Given the description of an element on the screen output the (x, y) to click on. 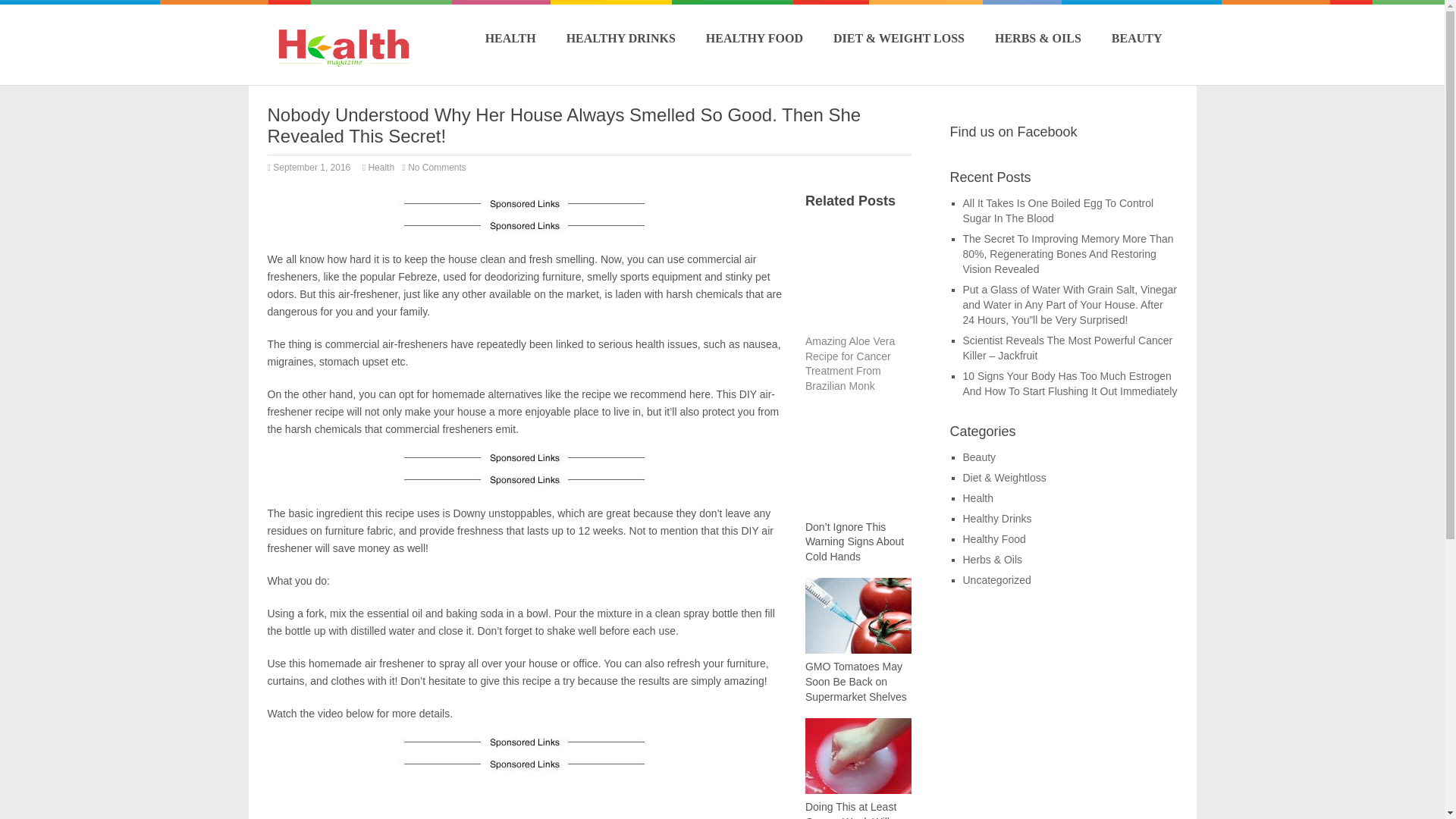
Beauty (978, 457)
BEAUTY (1136, 38)
All It Takes Is One Boiled Egg To Control Sugar In The Blood (1058, 210)
Healthy Food (994, 539)
HEALTHY DRINKS (620, 38)
HEALTHY FOOD (754, 38)
Healthy Drinks (997, 518)
Health (381, 167)
Health (977, 498)
Uncategorized (996, 580)
No Comments (439, 167)
HEALTH (509, 38)
